Given the description of an element on the screen output the (x, y) to click on. 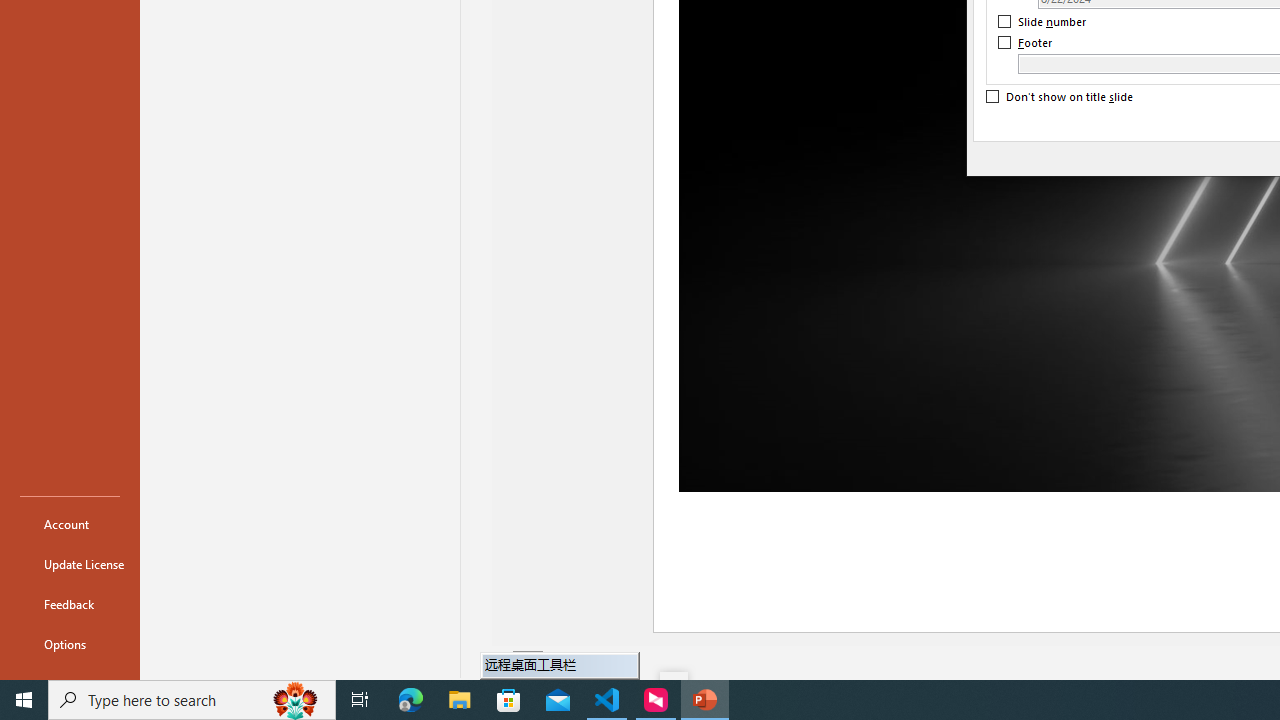
Options (69, 643)
